Given the description of an element on the screen output the (x, y) to click on. 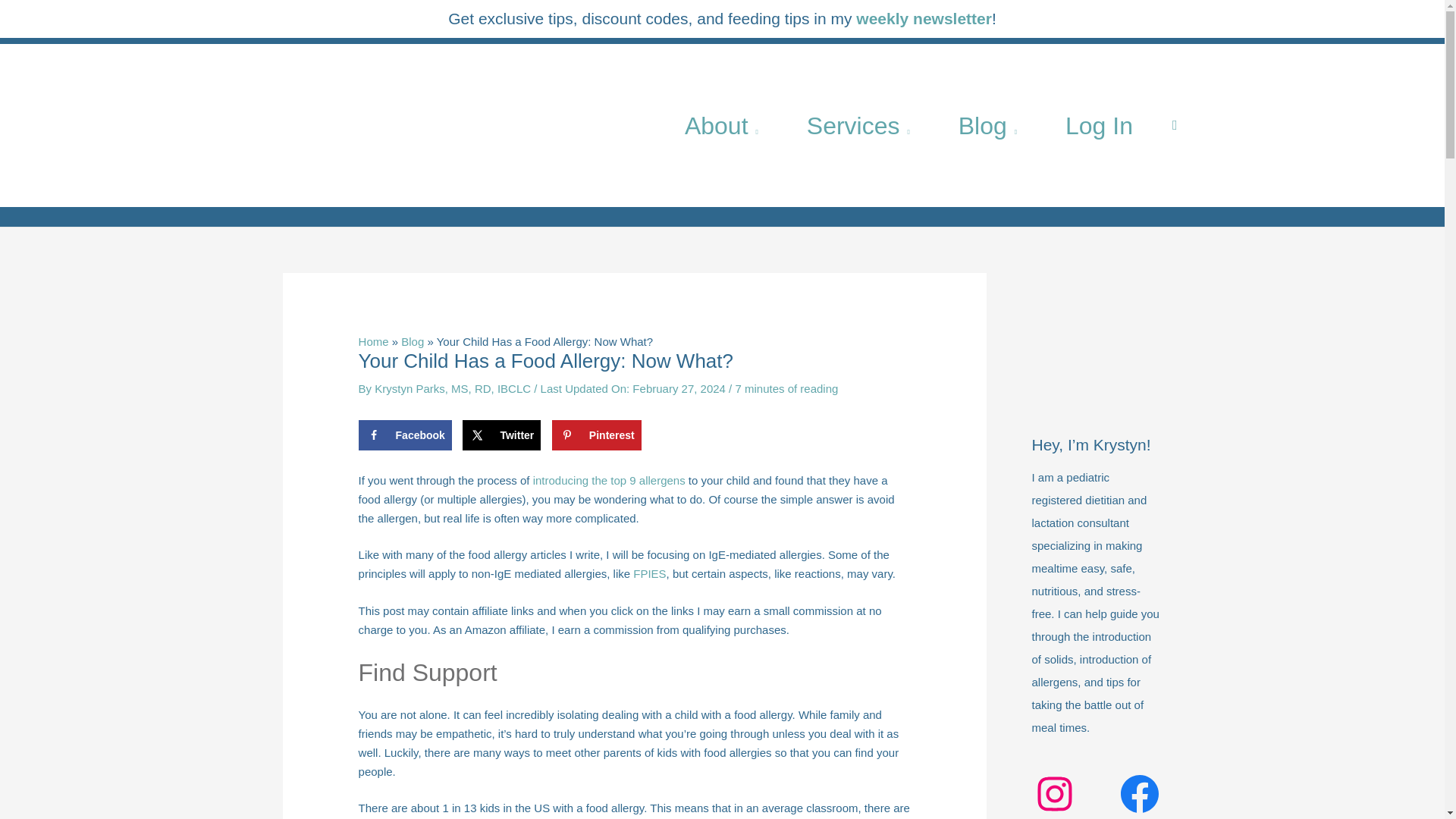
Log In (1099, 124)
About (722, 124)
Share on Facebook (404, 435)
Share on X (501, 435)
weekly newsletter (923, 18)
Save to Pinterest (596, 435)
Blog (987, 124)
Services (858, 124)
View all posts by Krystyn Parks, MS, RD, IBCLC (454, 388)
